Given the description of an element on the screen output the (x, y) to click on. 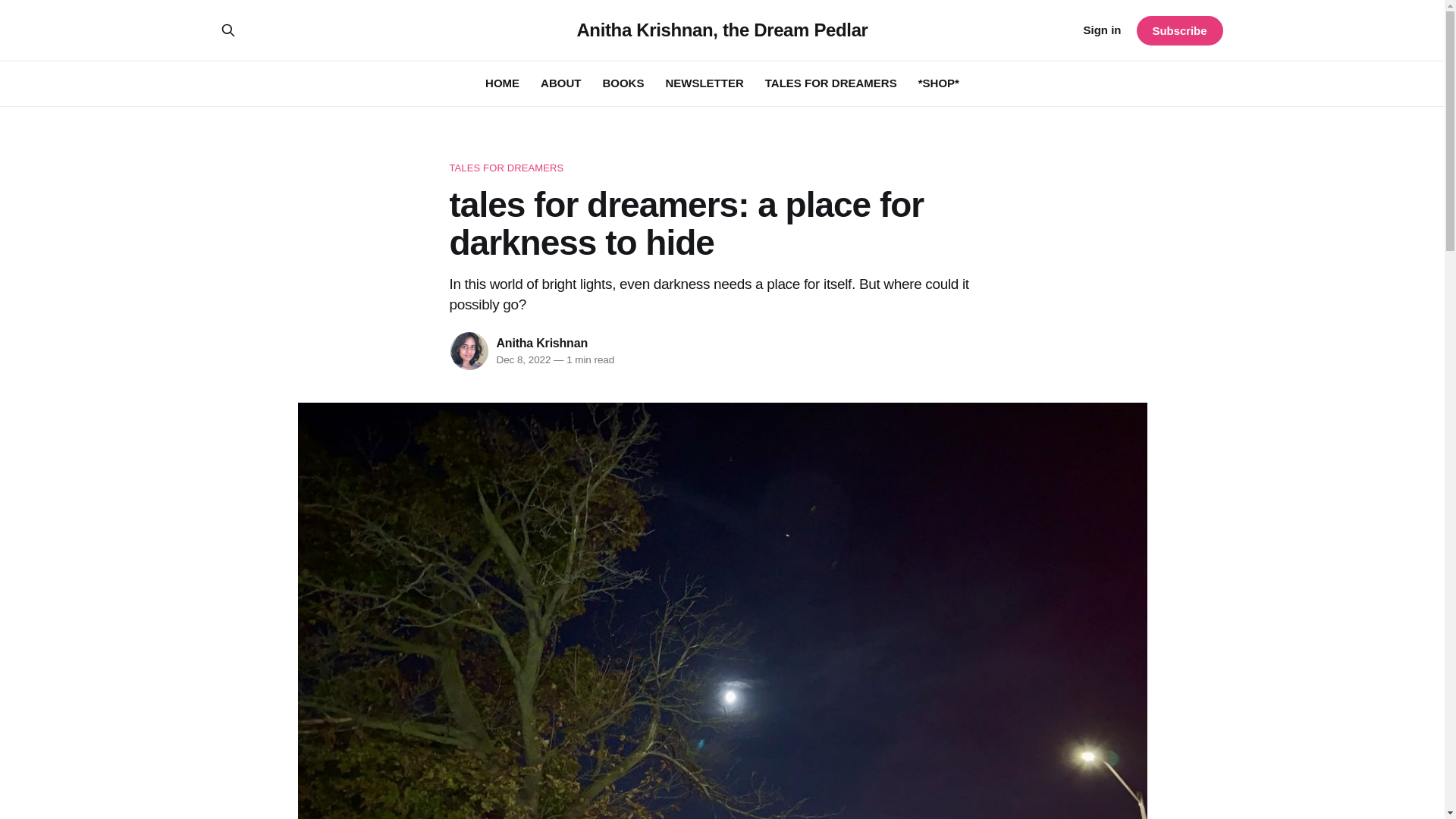
Sign in (1102, 30)
NEWSLETTER (703, 82)
HOME (501, 82)
Anitha Krishnan, the Dream Pedlar (721, 30)
TALES FOR DREAMERS (830, 82)
TALES FOR DREAMERS (721, 168)
Anitha Krishnan (541, 342)
ABOUT (560, 82)
Subscribe (1179, 30)
BOOKS (622, 82)
